Given the description of an element on the screen output the (x, y) to click on. 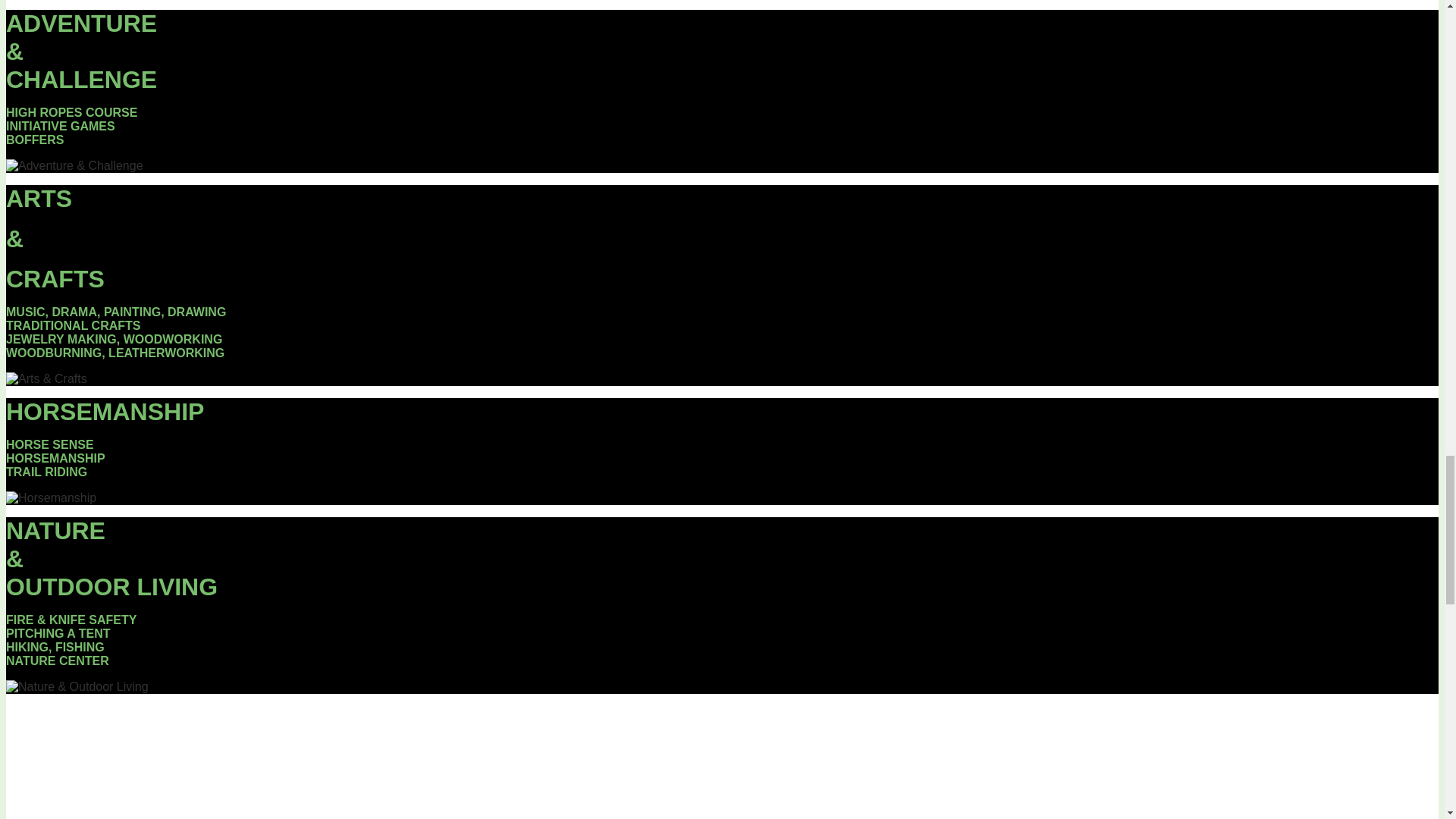
Horsemanship (50, 498)
